Given the description of an element on the screen output the (x, y) to click on. 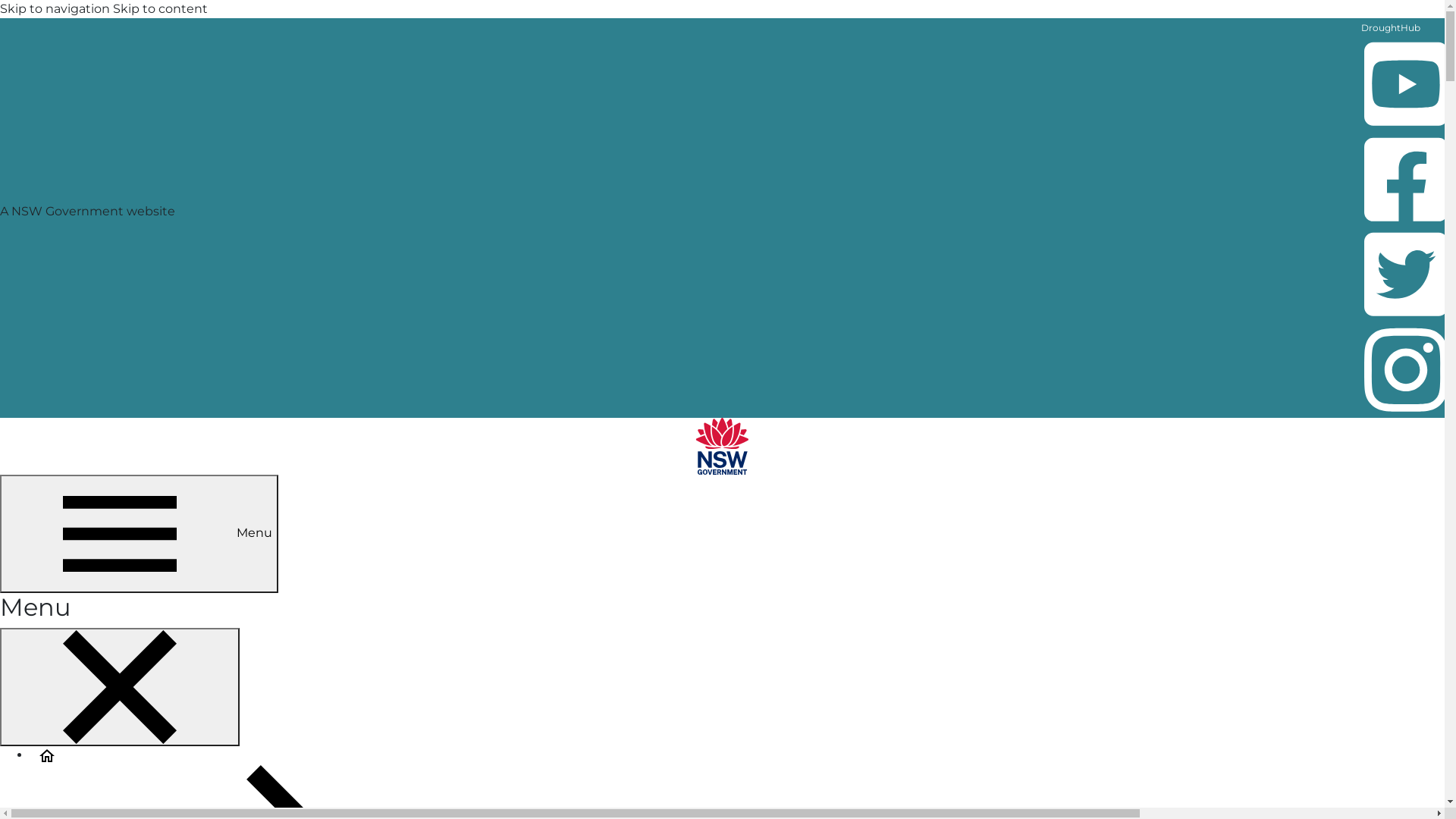
Close Menu Element type: text (119, 686)
Twitter Young Farmer Business Program NSW Element type: text (1407, 321)
DroughtHub Element type: text (1390, 27)
Facebook Young Farmer Business Program NSW Element type: text (1407, 226)
Open
Menu Element type: text (139, 533)
Skip to content Element type: text (159, 8)
Instagram Young Farmer Business Program NSW Element type: text (1405, 368)
Youtube Young Farmer Business Program NSW Element type: text (1407, 130)
Skip to navigation Element type: text (54, 8)
